Given the description of an element on the screen output the (x, y) to click on. 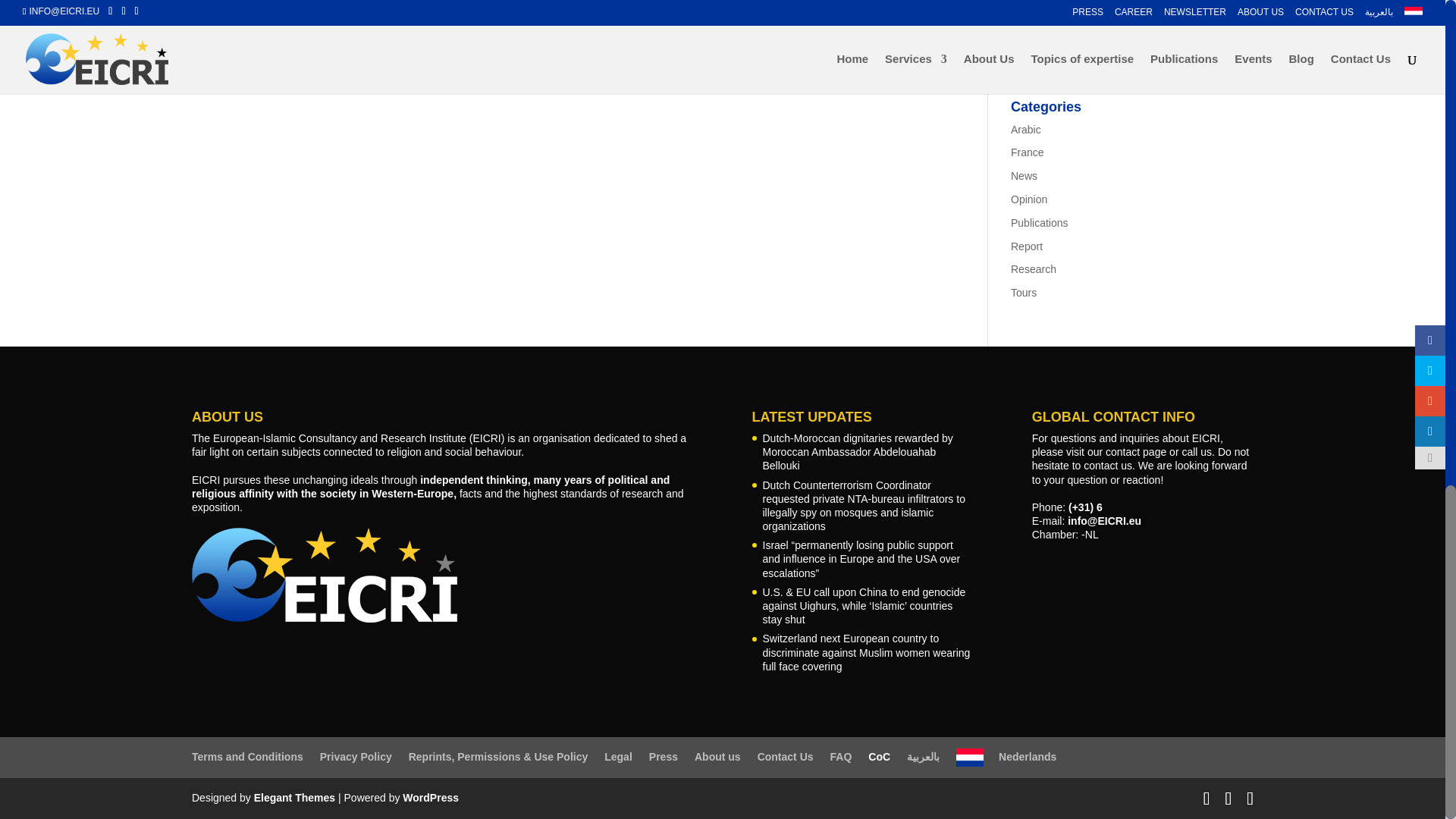
Privacy Policy (355, 756)
Our Terms and Conditions (247, 756)
About EICRI (717, 756)
Premium WordPress Themes (293, 797)
Code of Conduct (878, 756)
Europees-Islamitisch Advies- en Onderzoeksinstituut (1006, 756)
Contact EICRI (785, 756)
The press (663, 756)
Frequently Asked Questions (840, 756)
